Given the description of an element on the screen output the (x, y) to click on. 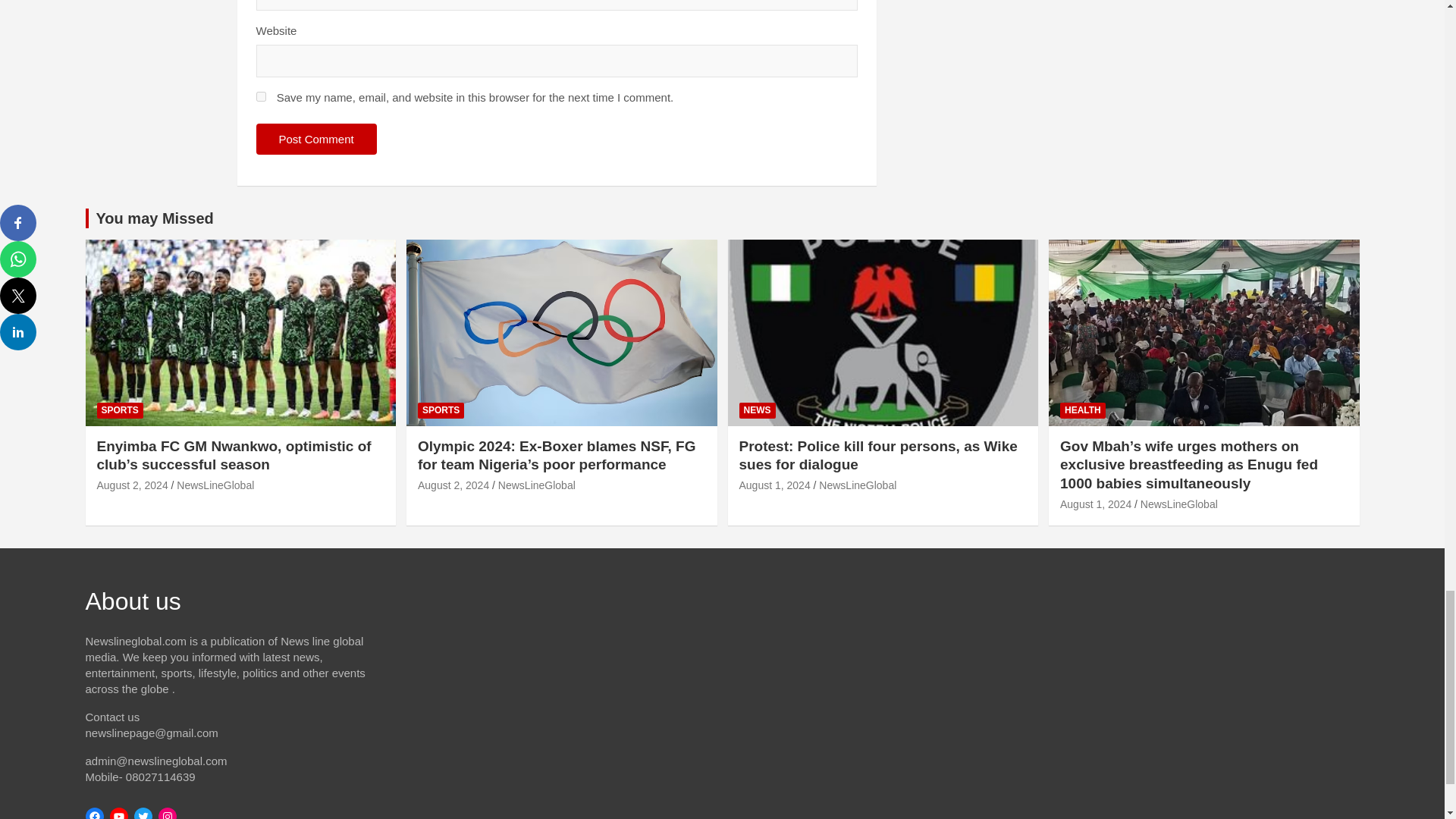
yes (261, 96)
Post Comment (316, 138)
